Given the description of an element on the screen output the (x, y) to click on. 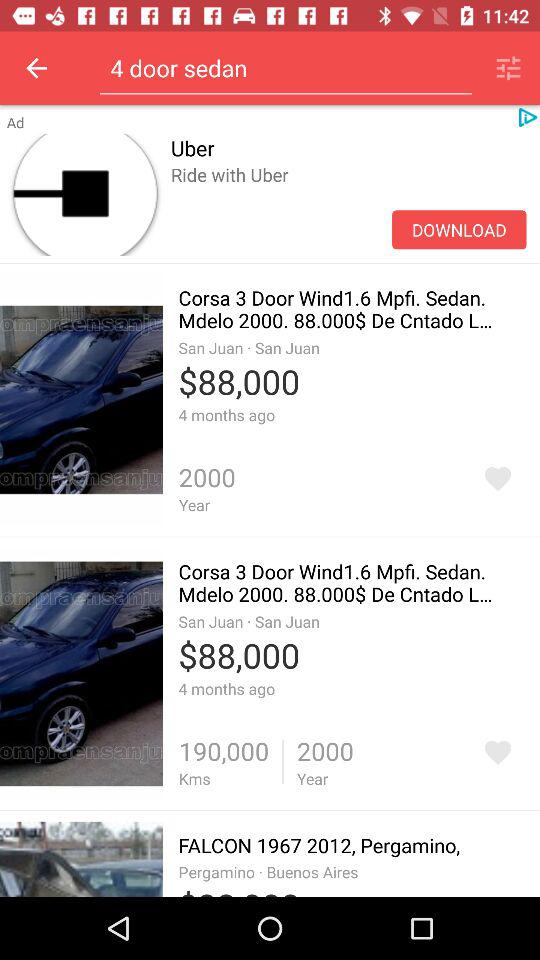
tap item next to the 4 door sedan (508, 67)
